Given the description of an element on the screen output the (x, y) to click on. 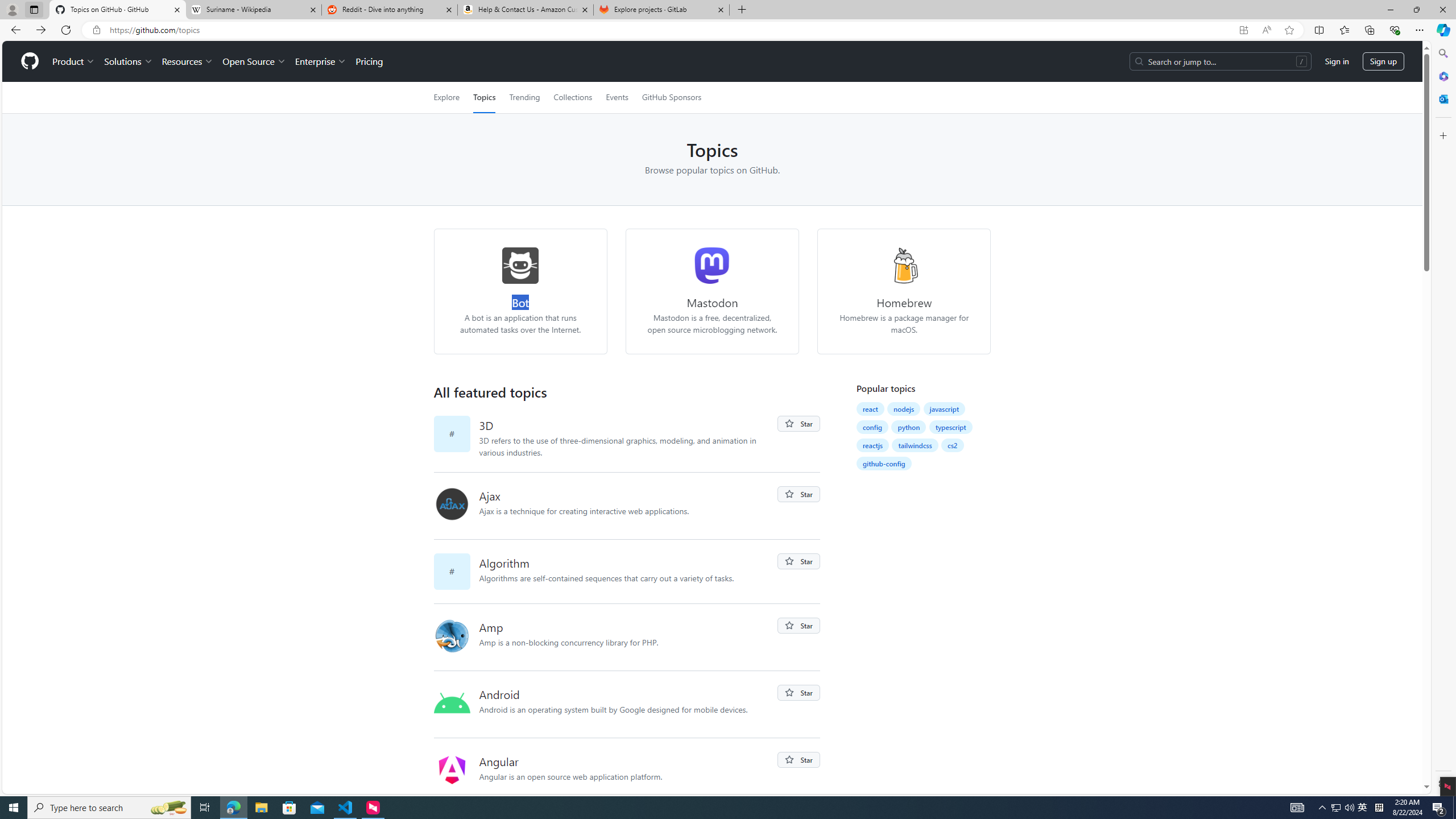
App available. Install GitHub (1243, 29)
amphp (456, 636)
github-config (883, 463)
Sign up (1382, 61)
Homepage (29, 61)
tailwindcss (915, 445)
javascript (944, 409)
Help & Contact Us - Amazon Customer Service (525, 9)
react (869, 409)
